Given the description of an element on the screen output the (x, y) to click on. 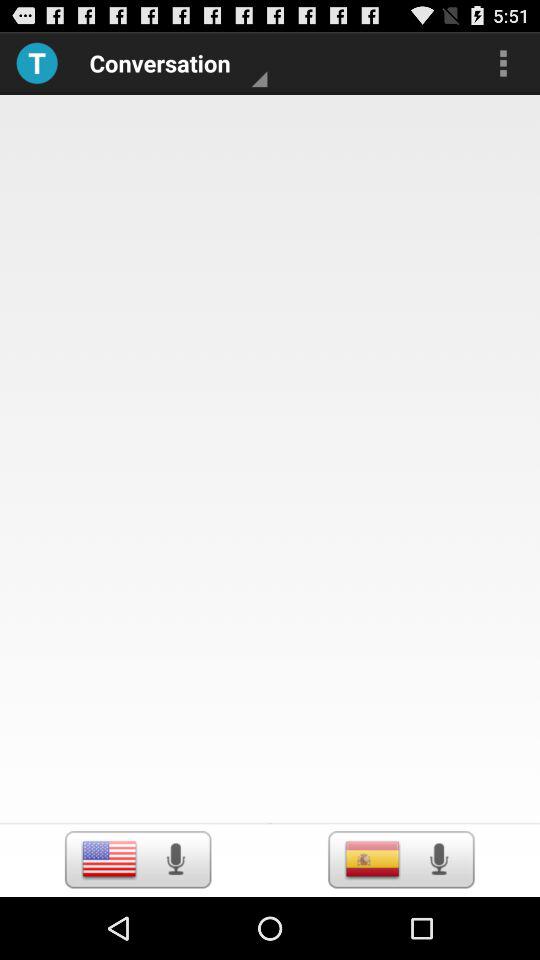
audio change to us (108, 859)
